Given the description of an element on the screen output the (x, y) to click on. 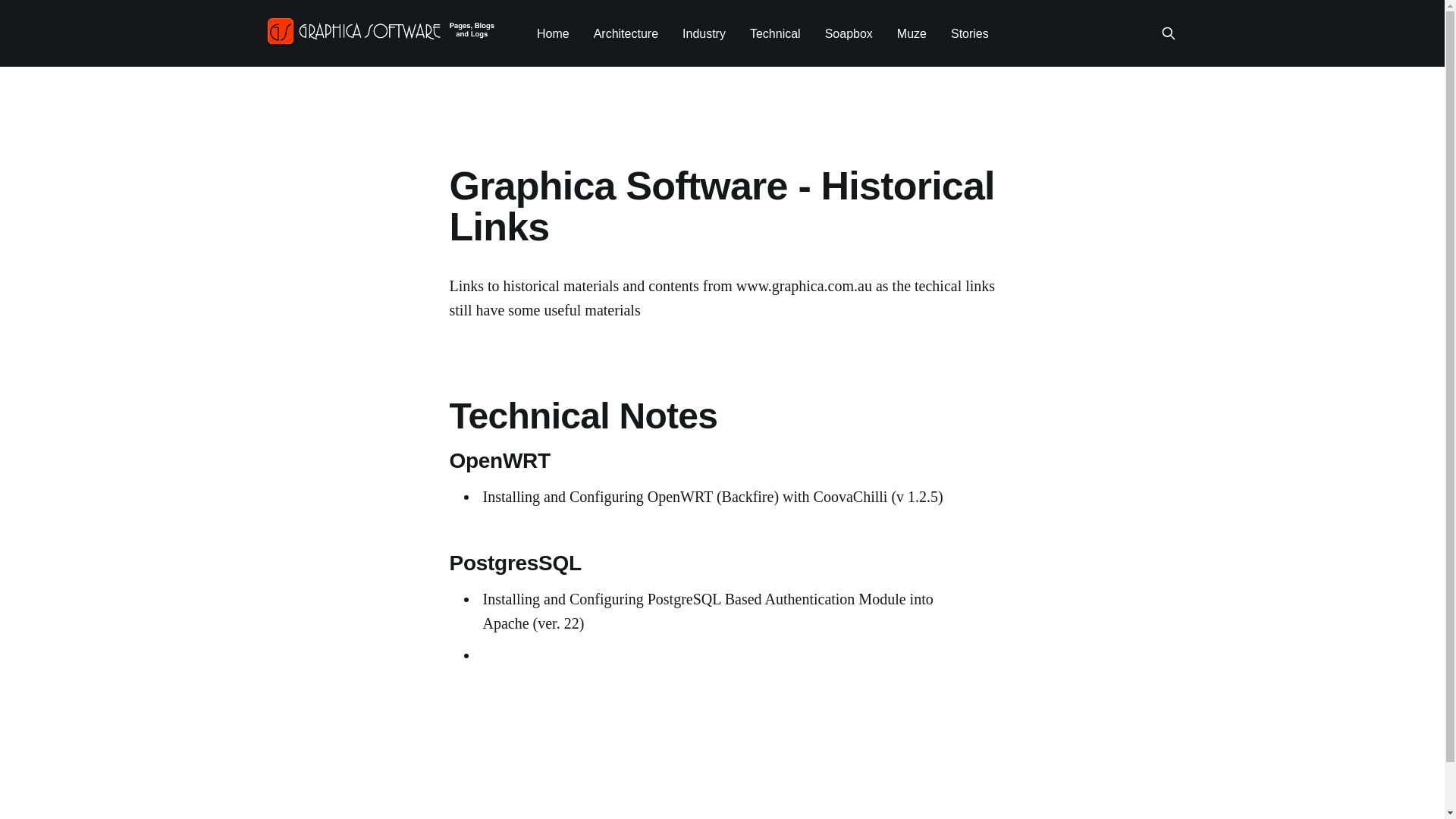
Muze Element type: text (911, 33)
Stories Element type: text (969, 33)
Architecture Element type: text (625, 33)
Home Element type: text (552, 33)
Soapbox Element type: text (848, 33)
Industry Element type: text (703, 33)
Technical Element type: text (774, 33)
